Given the description of an element on the screen output the (x, y) to click on. 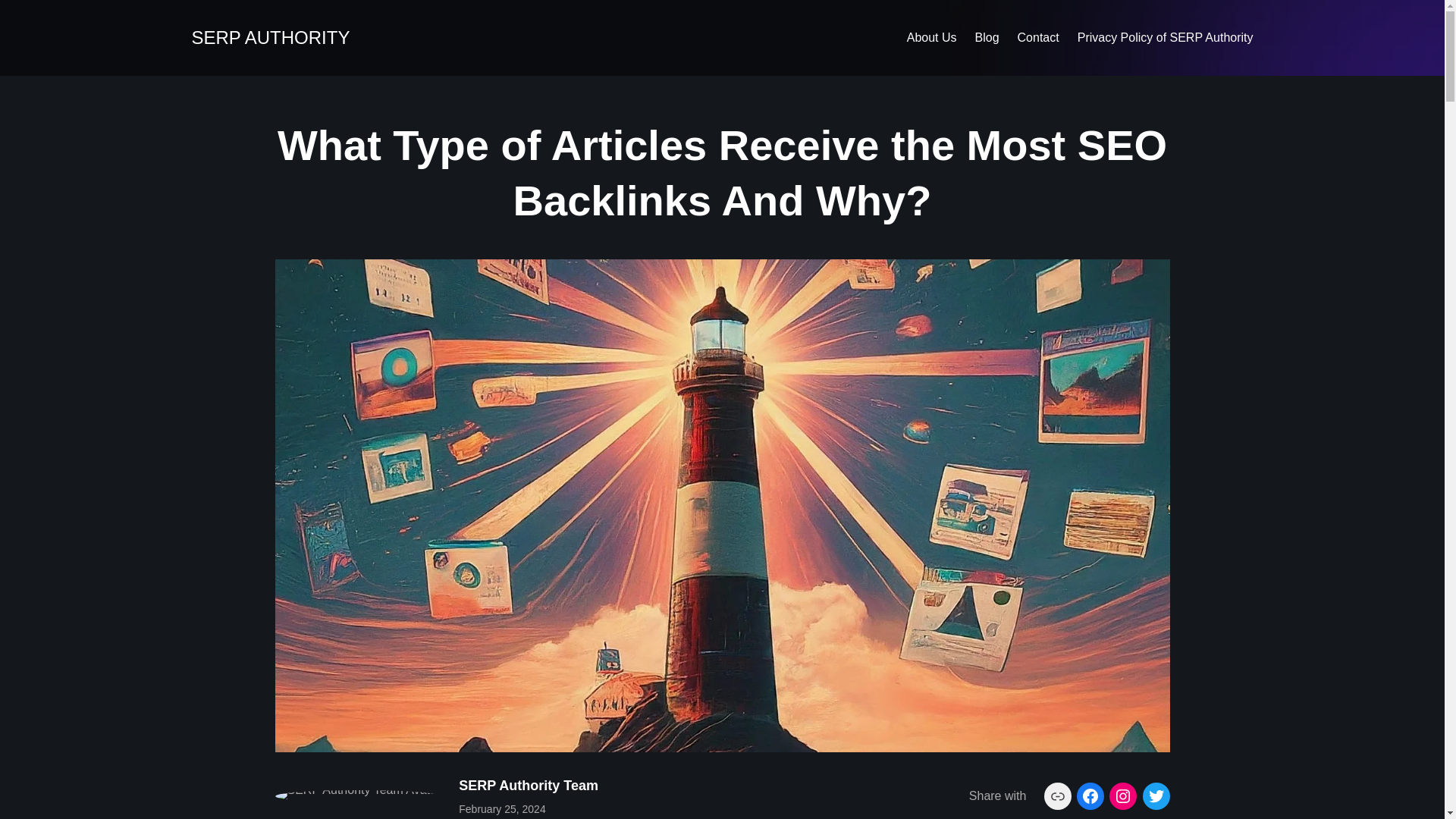
Blog (986, 37)
Privacy Policy of SERP Authority (1165, 37)
Twitter (1155, 795)
SERP AUTHORITY (269, 37)
Instagram (1123, 795)
Link (1057, 795)
About Us (931, 37)
Contact (1038, 37)
Facebook (1090, 795)
